Given the description of an element on the screen output the (x, y) to click on. 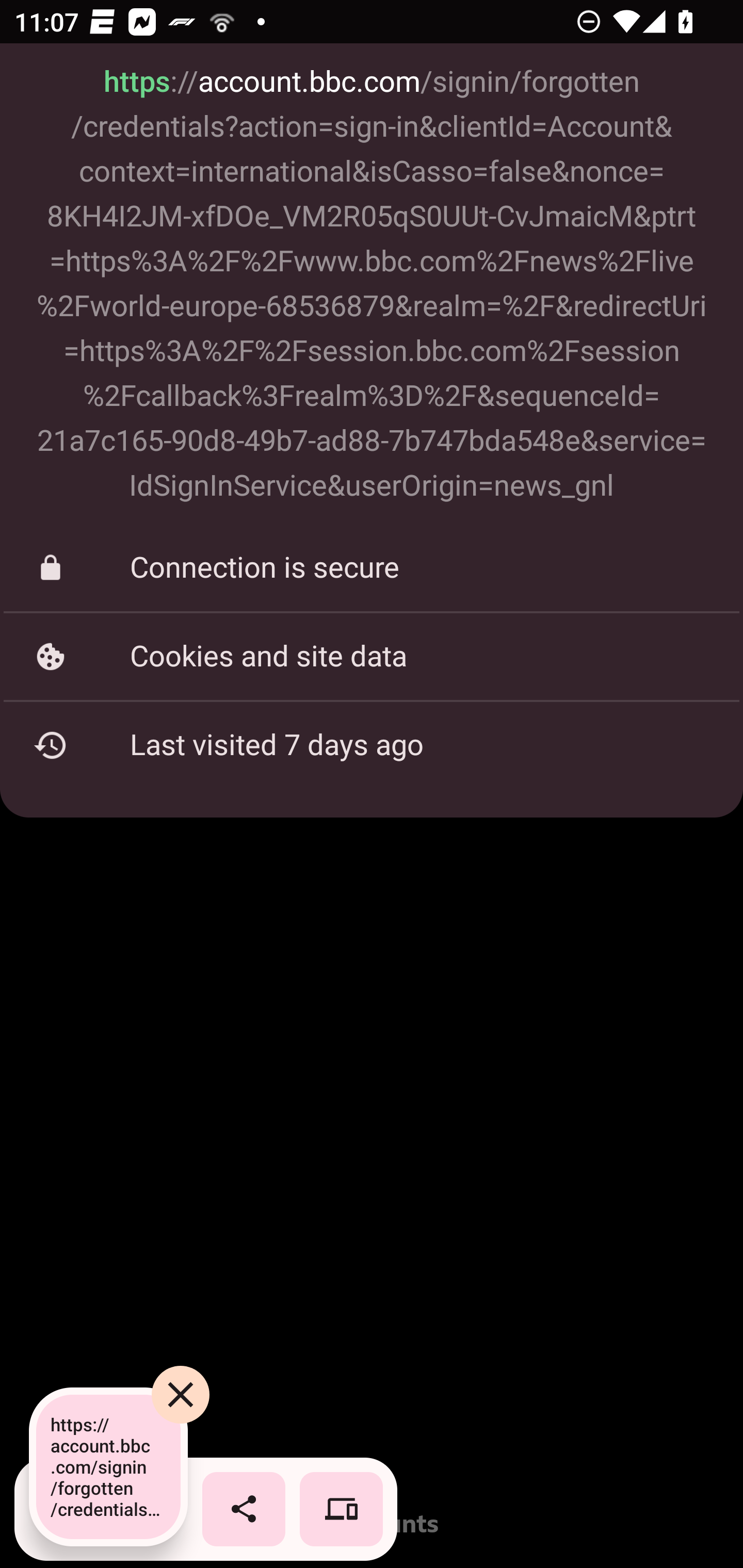
Connection is secure (371, 568)
Cookies and site data (371, 656)
Last visited 7 days ago (371, 745)
